Given the description of an element on the screen output the (x, y) to click on. 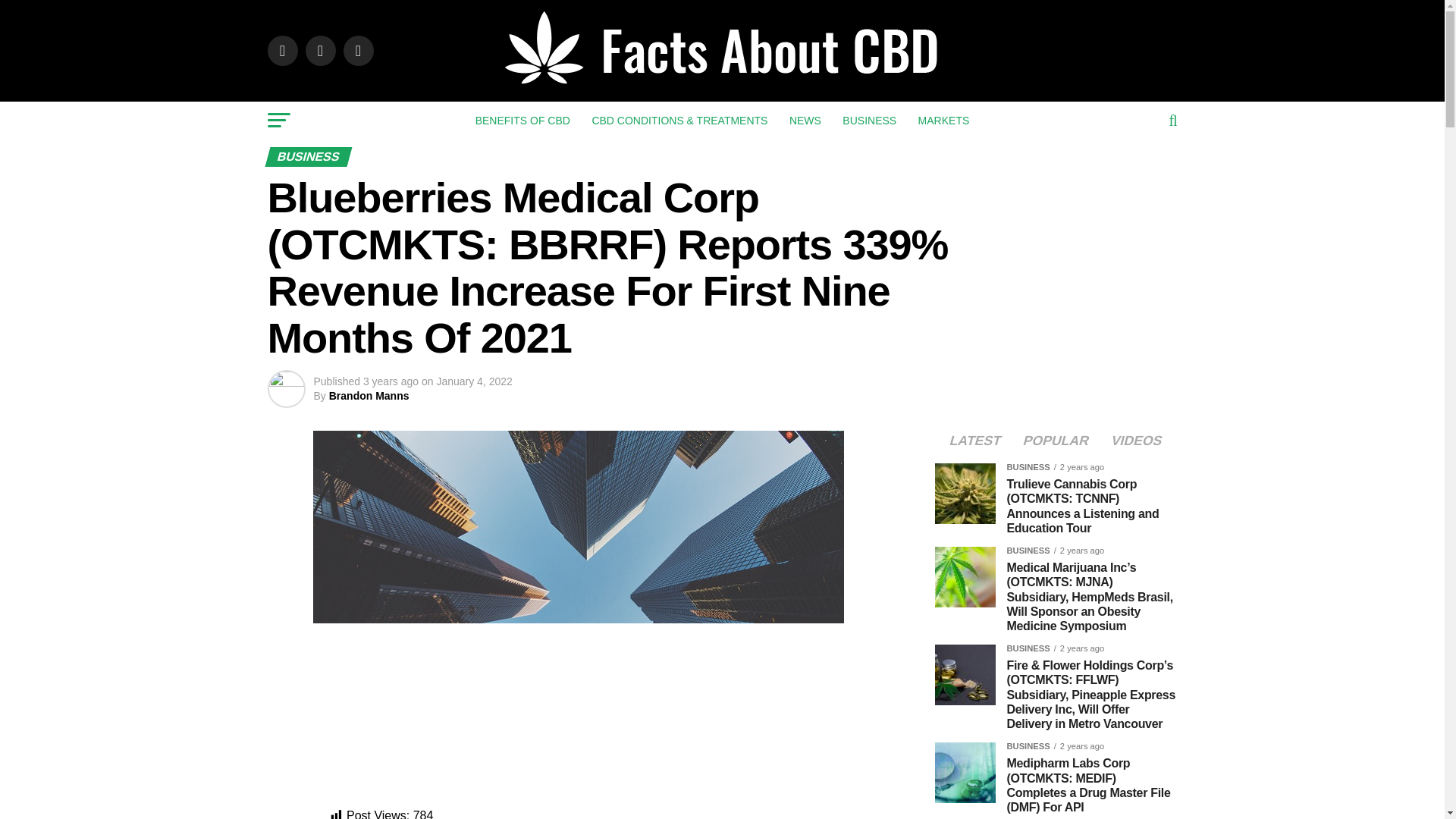
Brandon Manns (369, 395)
BENEFITS OF CBD (522, 120)
NEWS (804, 120)
MARKETS (943, 120)
Posts by Brandon Manns (369, 395)
BUSINESS (868, 120)
